Given the description of an element on the screen output the (x, y) to click on. 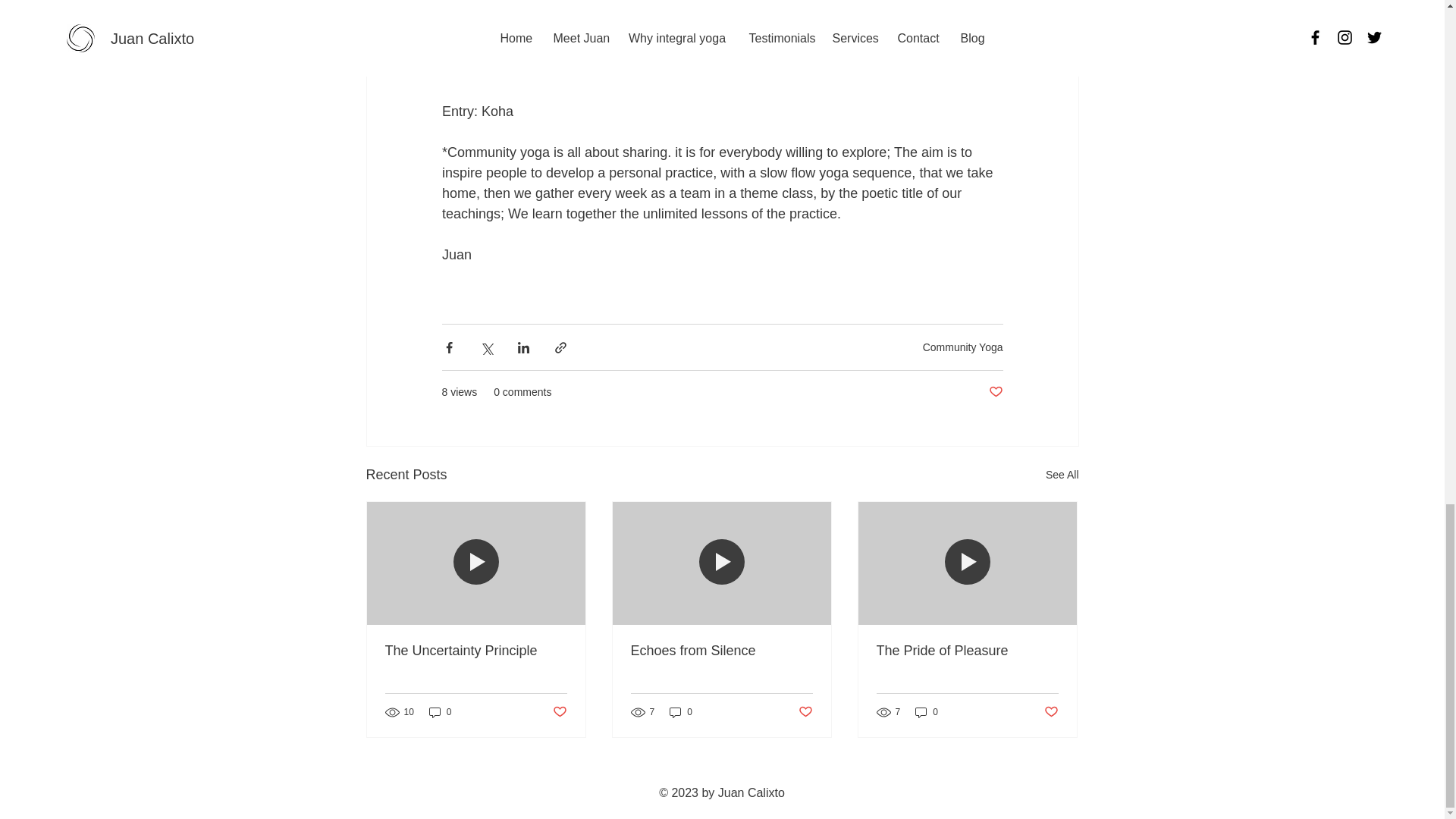
Community Yoga (963, 346)
Echoes from Silence (721, 650)
Post not marked as liked (995, 392)
0 (681, 712)
Post not marked as liked (804, 712)
Post not marked as liked (558, 712)
The Uncertainty Principle (476, 650)
The Pride of Pleasure (967, 650)
See All (1061, 475)
0 (440, 712)
